Given the description of an element on the screen output the (x, y) to click on. 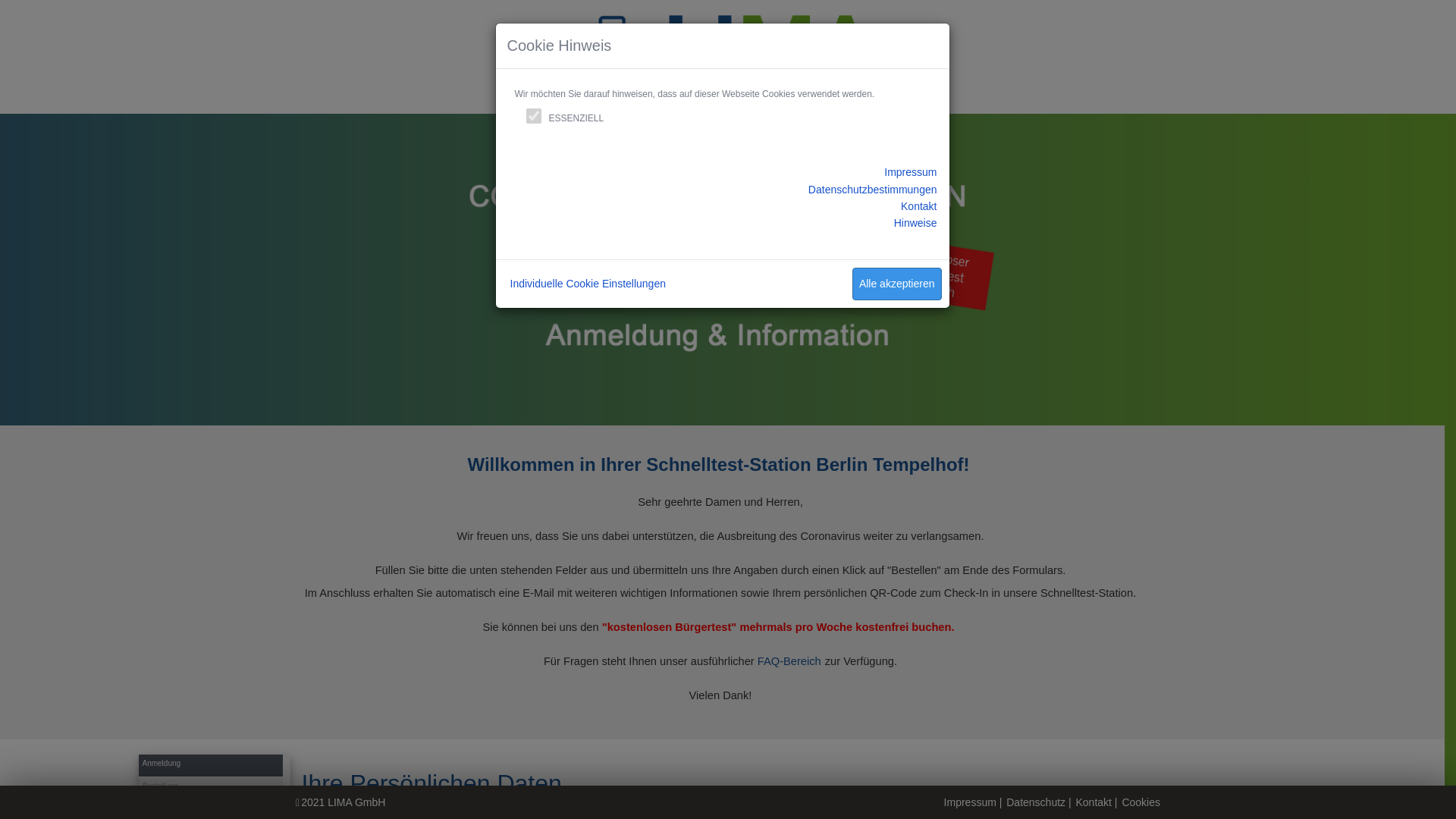
Cookies Element type: text (1140, 802)
Kontakt Element type: text (1092, 802)
Kontakt Element type: text (918, 205)
Datenschutz Element type: text (1035, 802)
Impressum Element type: text (910, 171)
FAQ-Bereich Element type: text (789, 661)
Datenschutzbestimmungen Element type: text (872, 189)
2021 LIMA GmbH Element type: text (343, 802)
Impressum Element type: text (970, 802)
Hinweise Element type: text (915, 222)
